Given the description of an element on the screen output the (x, y) to click on. 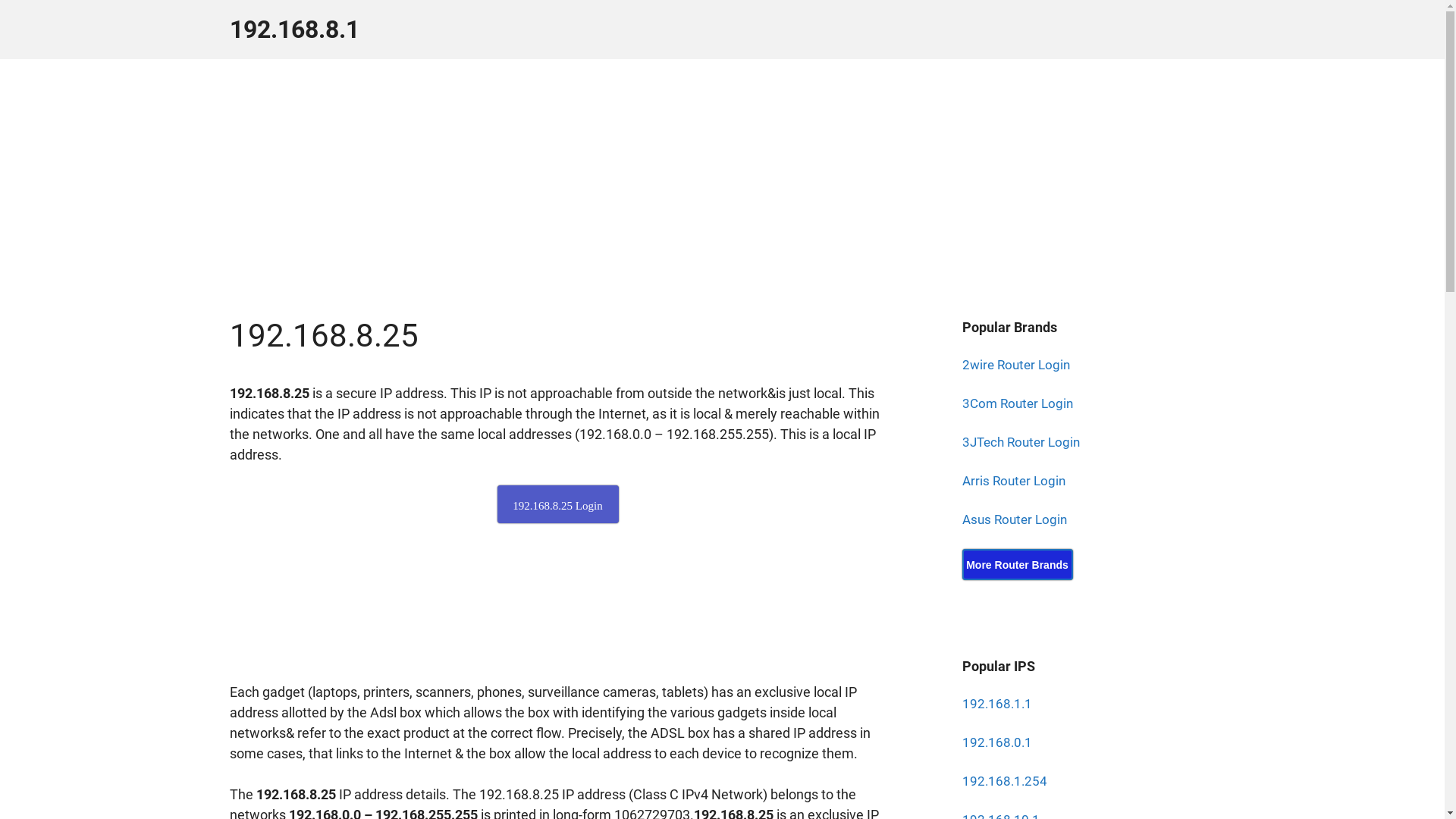
192.168.0.1 Element type: text (996, 741)
192.168.8.1 Element type: text (293, 29)
192.168.1.1 Element type: text (996, 703)
Advertisement Element type: hover (721, 165)
192.168.8.25 Login Element type: text (557, 504)
Arris Router Login Element type: text (1012, 480)
2wire Router Login Element type: text (1015, 364)
More Router Brands Element type: text (1016, 564)
3Com Router Login Element type: text (1016, 403)
192.168.1.254 Element type: text (1003, 780)
3JTech Router Login Element type: text (1020, 441)
Advertisement Element type: hover (557, 612)
Asus Router Login Element type: text (1013, 519)
